Given the description of an element on the screen output the (x, y) to click on. 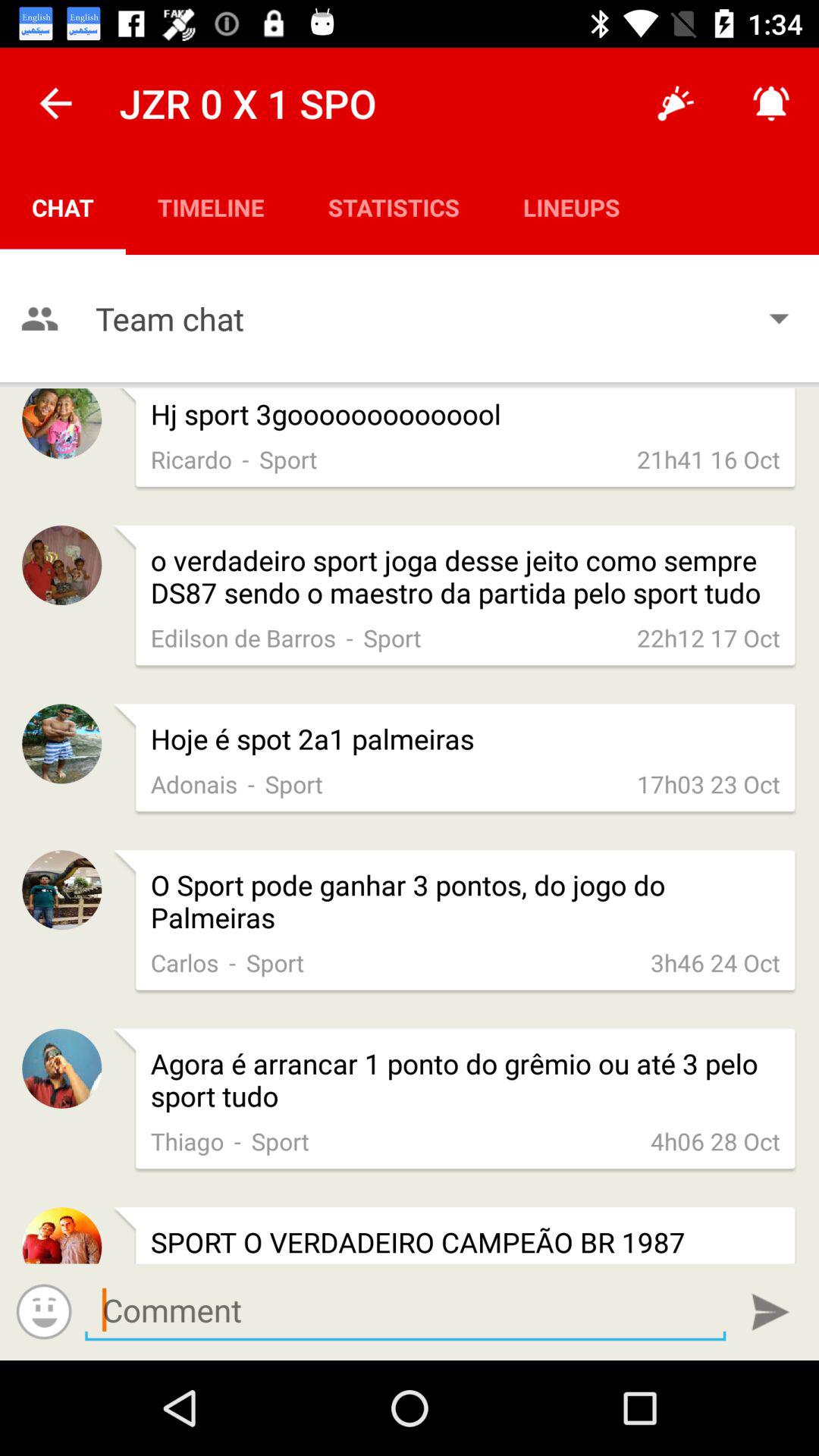
post comment (770, 1312)
